Given the description of an element on the screen output the (x, y) to click on. 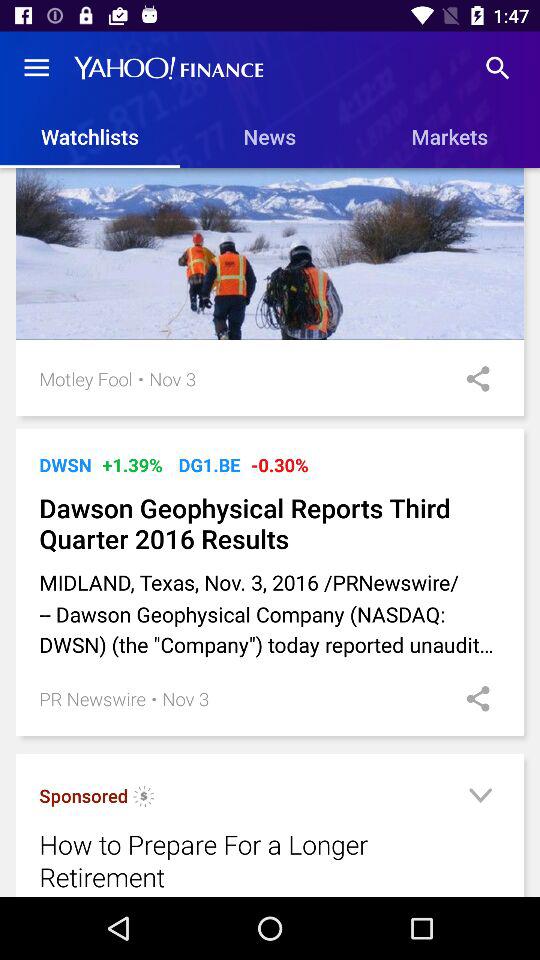
launch the icon above dawson geophysical reports icon (279, 464)
